Given the description of an element on the screen output the (x, y) to click on. 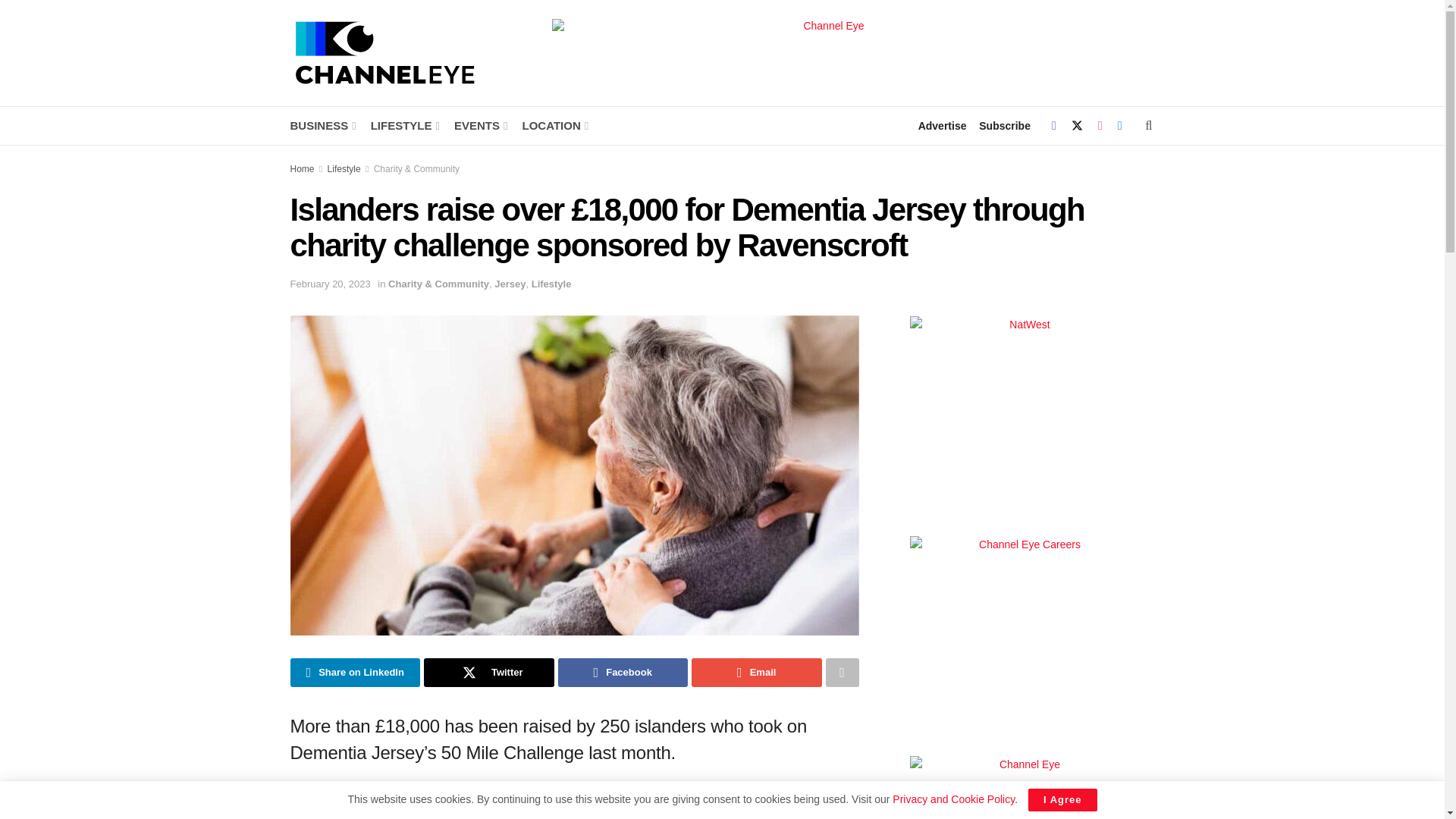
LIFESTYLE (404, 125)
BUSINESS (321, 125)
EVENTS (479, 125)
LOCATION (553, 125)
